Given the description of an element on the screen output the (x, y) to click on. 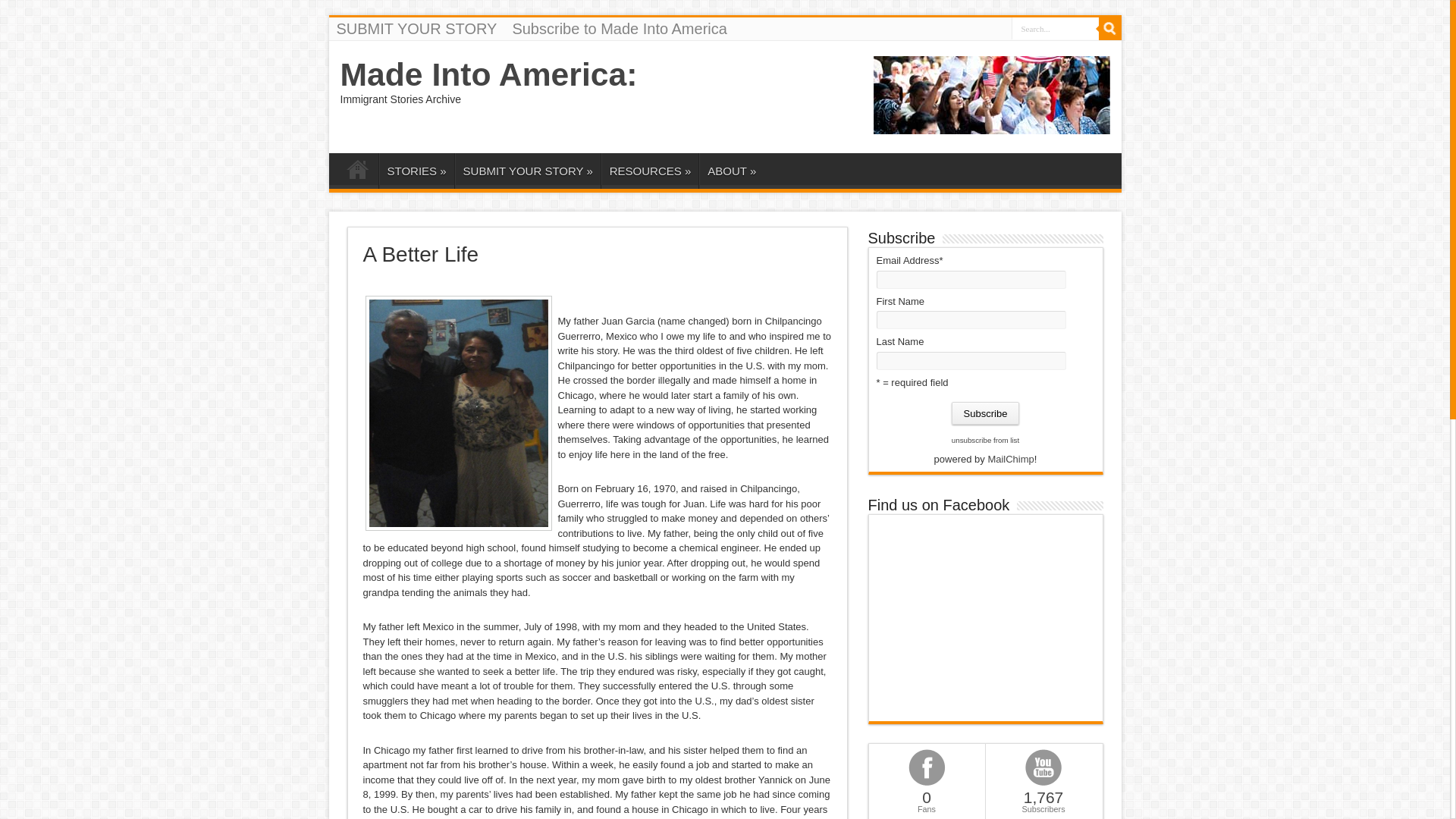
Search (1109, 28)
SUBMIT YOUR STORY (417, 28)
Subscribe to Made Into America (618, 28)
Search (1109, 28)
Subscribe (986, 413)
Home (357, 172)
Made Into America: (488, 74)
Search (1109, 28)
Search... (1055, 28)
